Given the description of an element on the screen output the (x, y) to click on. 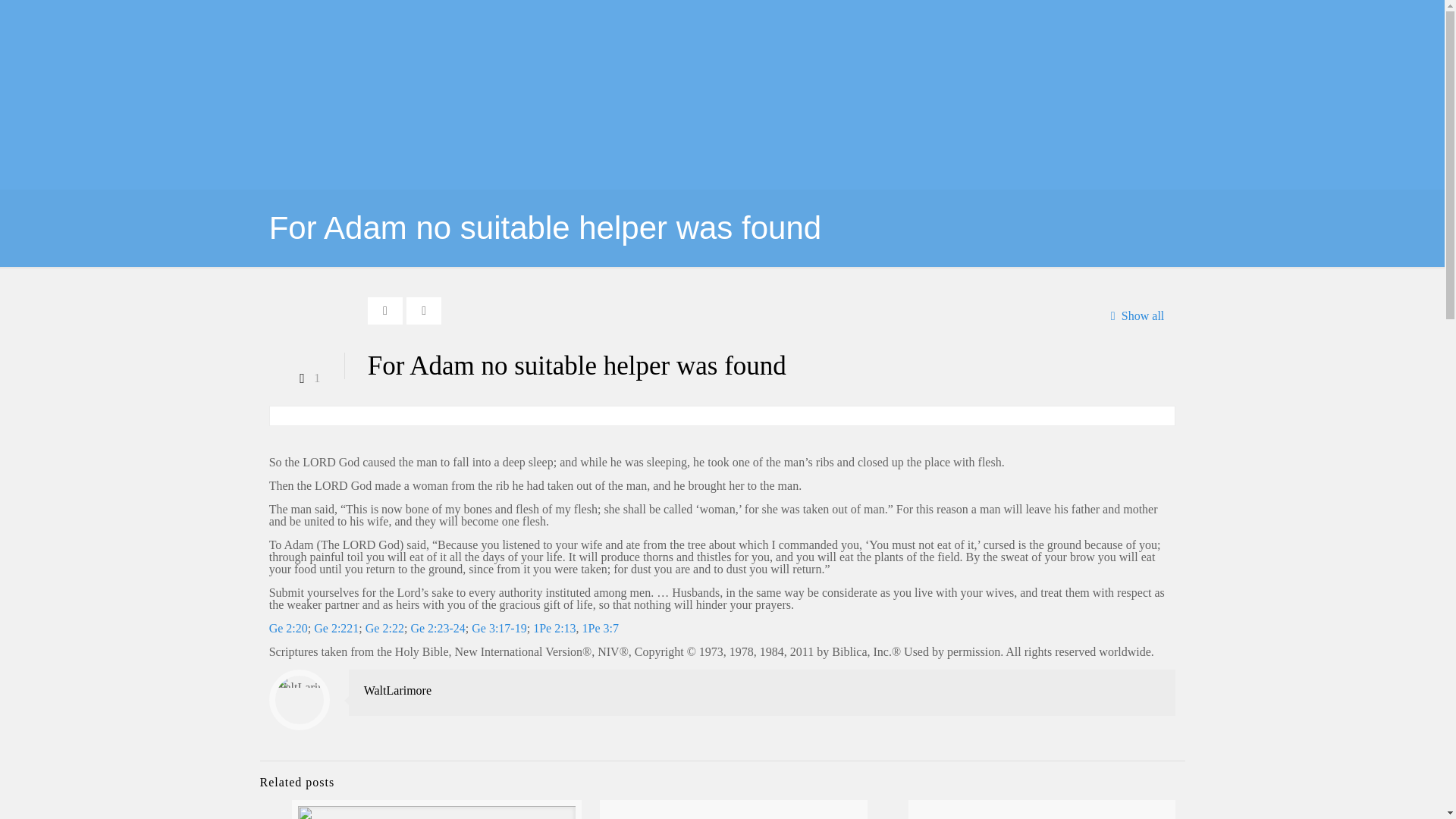
Ge 2:221 (336, 627)
WaltLarimore (397, 689)
1Pe 2:13 (553, 627)
Ge 3:17-19 (498, 627)
1Pe 3:7 (600, 627)
Show all (1133, 315)
Ge 2:23-24 (437, 627)
Ge 2:22 (384, 627)
Ge 2:20 (288, 627)
1 (306, 377)
